Given the description of an element on the screen output the (x, y) to click on. 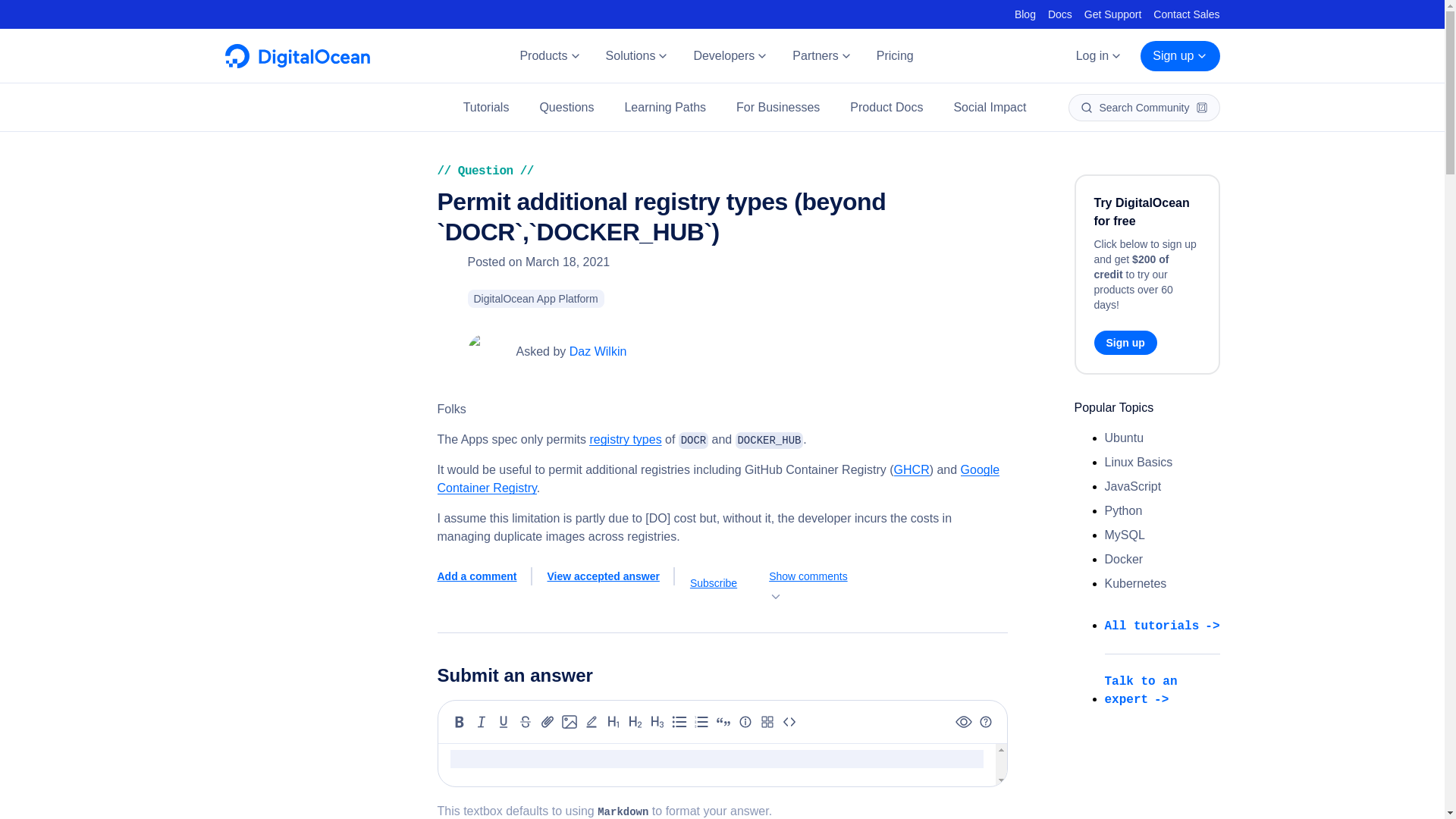
Contact Sales (1186, 14)
Ordered list (700, 721)
Link (547, 721)
Table (767, 721)
Image (568, 721)
Strikethrough (524, 721)
Get Support (1112, 14)
View accepted answer (611, 576)
DigitalOcean (296, 63)
Products (549, 55)
